Given the description of an element on the screen output the (x, y) to click on. 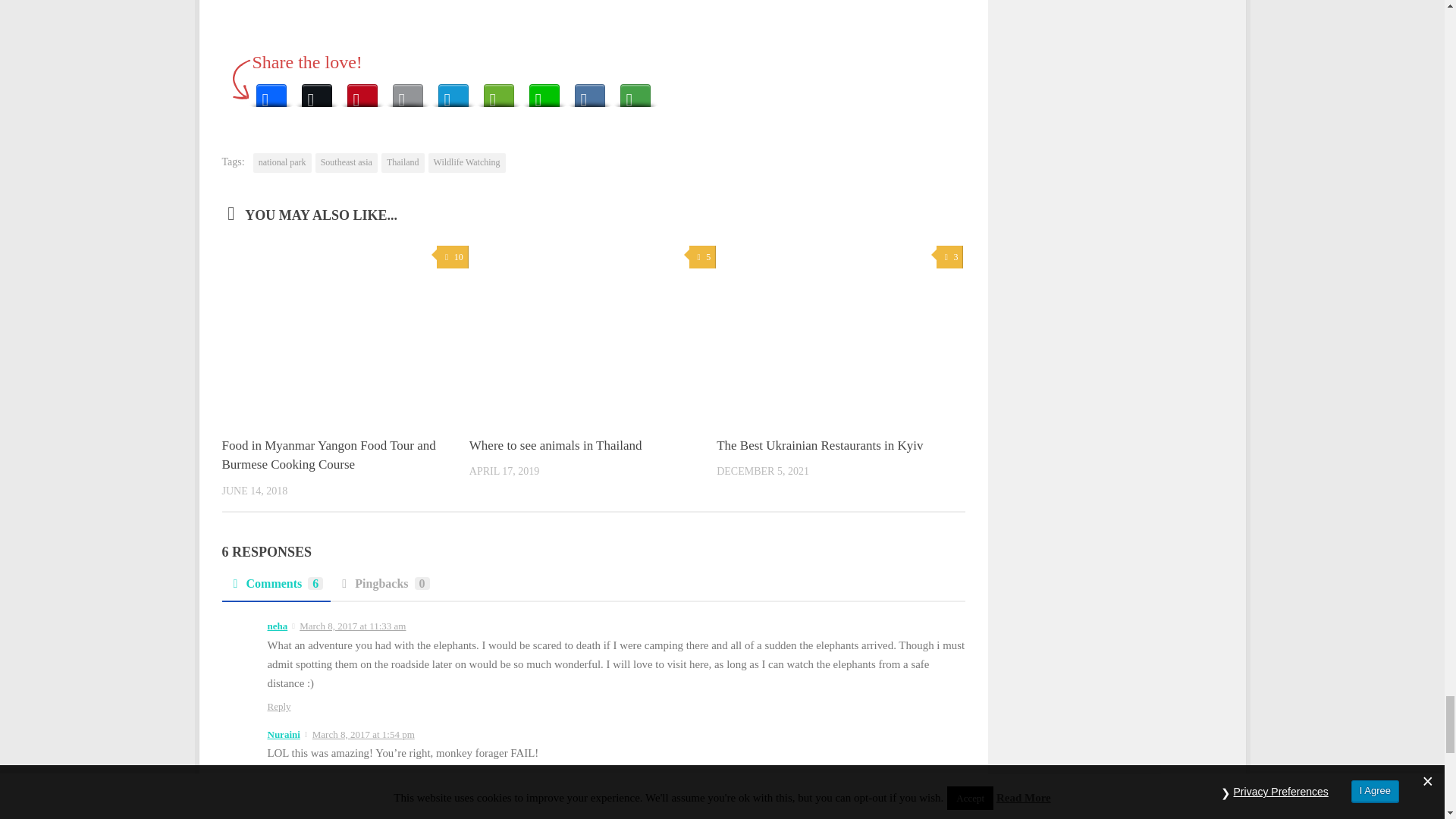
Pinterest (362, 91)
Facebook (271, 91)
